Given the description of an element on the screen output the (x, y) to click on. 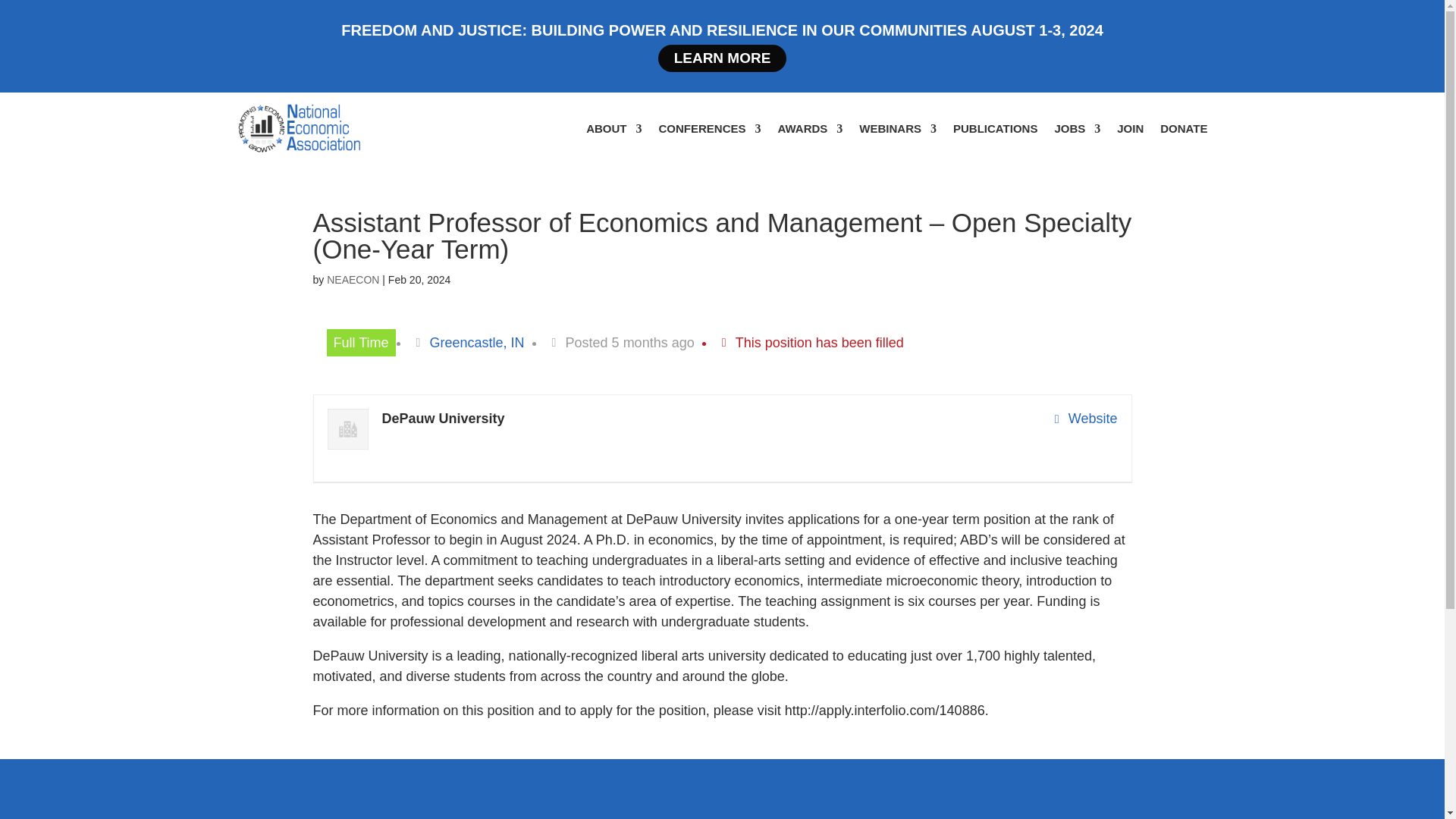
WEBINARS (897, 128)
ABOUT (614, 128)
CONFERENCES (709, 128)
Posts by NEAECON (352, 279)
LEARN MORE (722, 58)
AWARDS (810, 128)
PUBLICATIONS (994, 128)
